Given the description of an element on the screen output the (x, y) to click on. 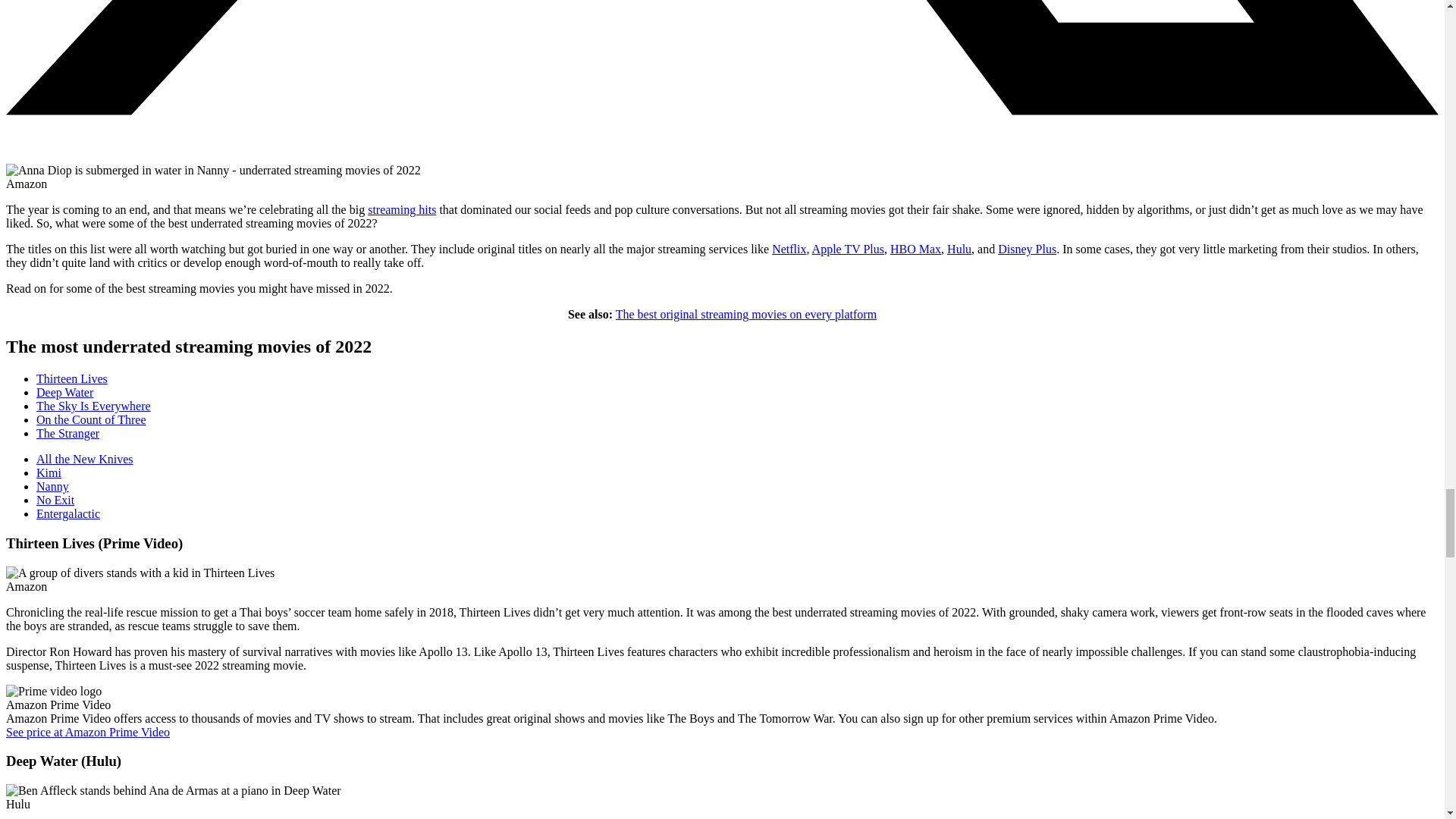
The Sky Is Everywhere (93, 405)
Entergalactic (68, 513)
All the New Knives (84, 459)
The best original streaming movies on every platform (745, 314)
Netflix (788, 248)
On the Count of Three (91, 419)
HBO Max (914, 248)
Prime video logo (53, 691)
Nanny (212, 170)
Thirteen Lives (140, 572)
Hulu (959, 248)
streaming hits (401, 209)
No Exit (55, 499)
Kimi (48, 472)
Apple TV Plus (847, 248)
